Given the description of an element on the screen output the (x, y) to click on. 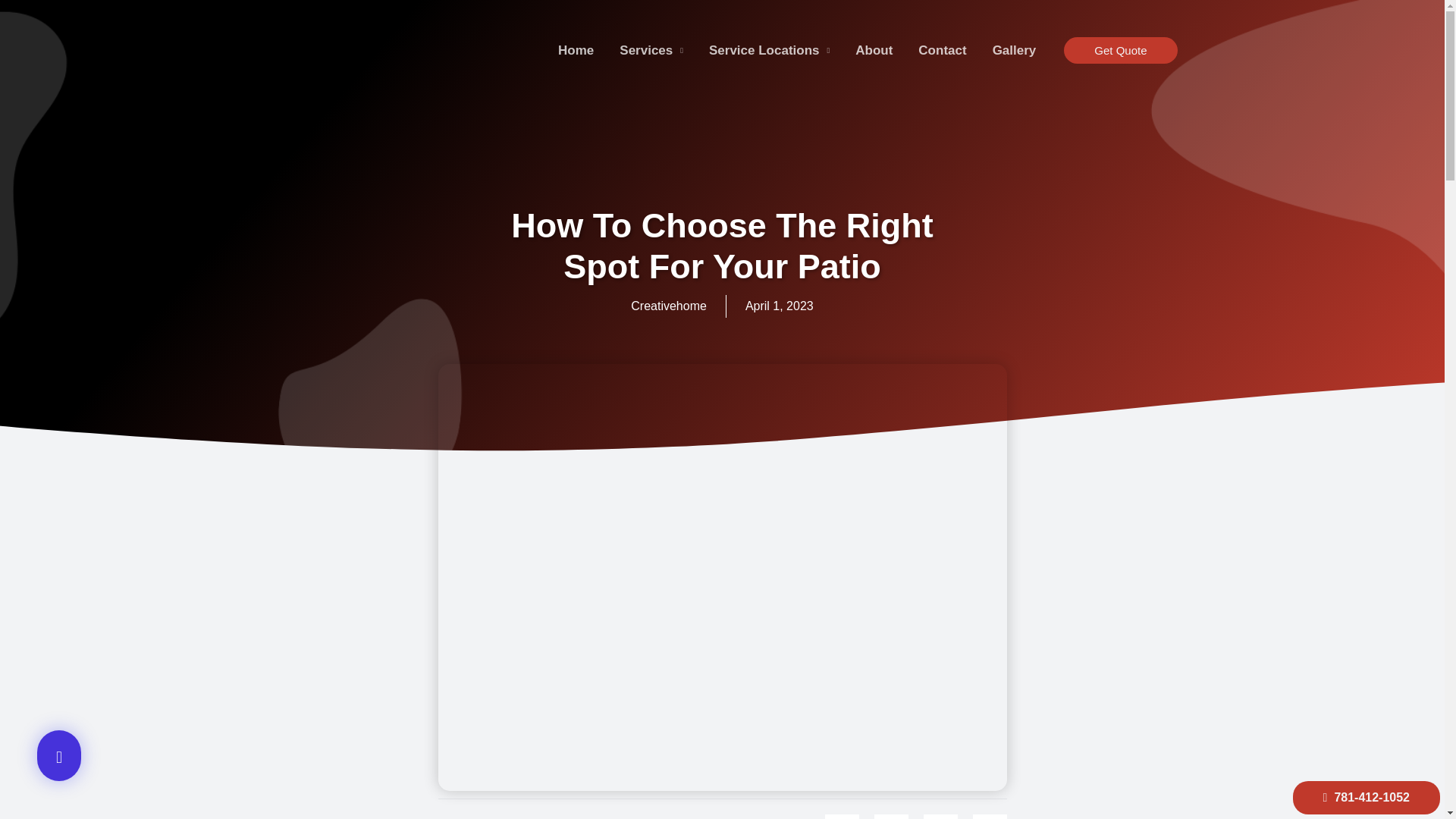
Contact (941, 50)
Gallery (1014, 50)
Services (651, 50)
Get Quote (1120, 49)
About (874, 50)
Home (575, 50)
Service Locations (769, 50)
